Given the description of an element on the screen output the (x, y) to click on. 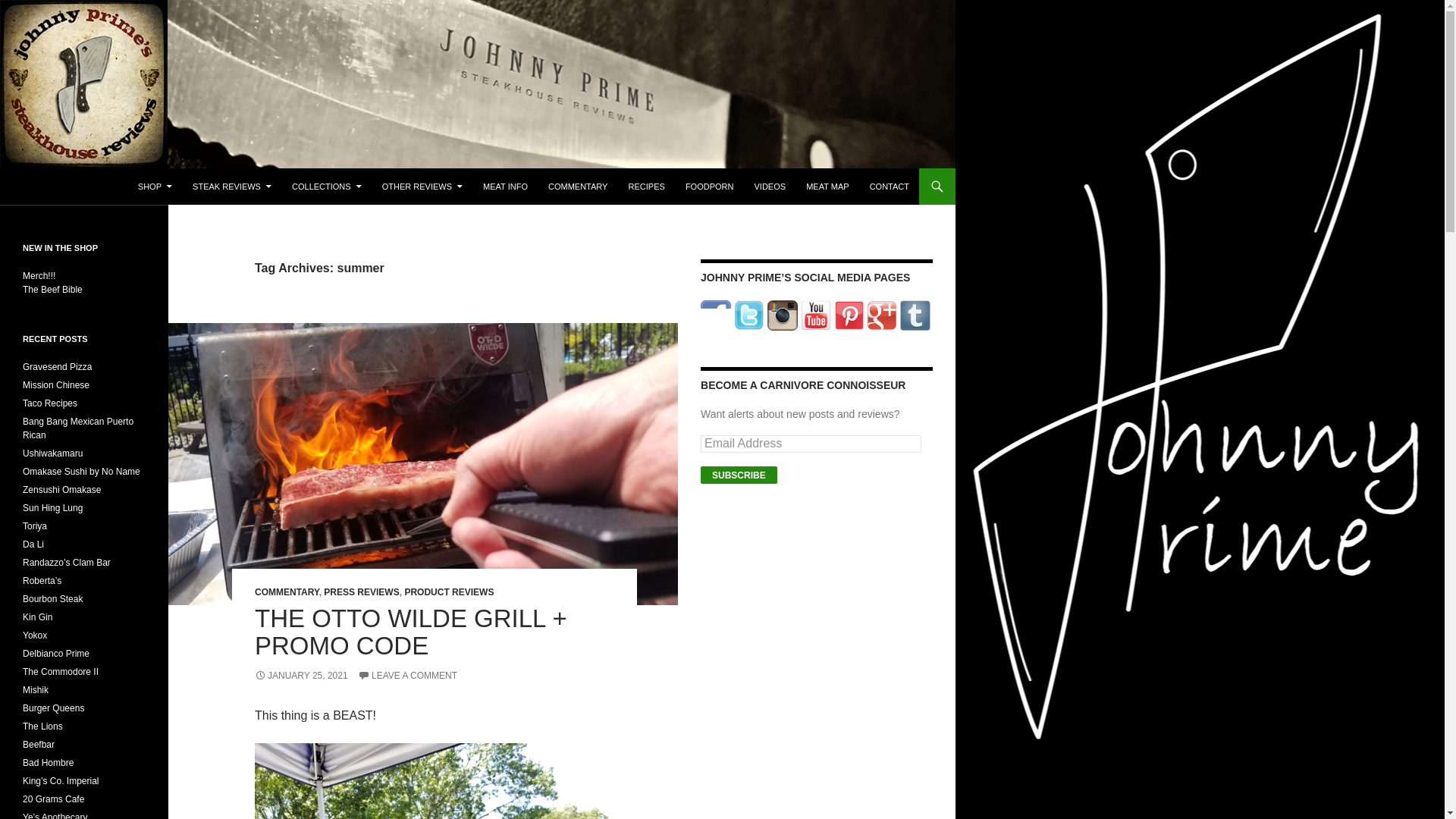
OTHER REVIEWS (421, 186)
SHOP (154, 186)
STEAK REVIEWS (232, 186)
COLLECTIONS (326, 186)
Johnny Prime (68, 186)
MEAT INFO (505, 186)
